Given the description of an element on the screen output the (x, y) to click on. 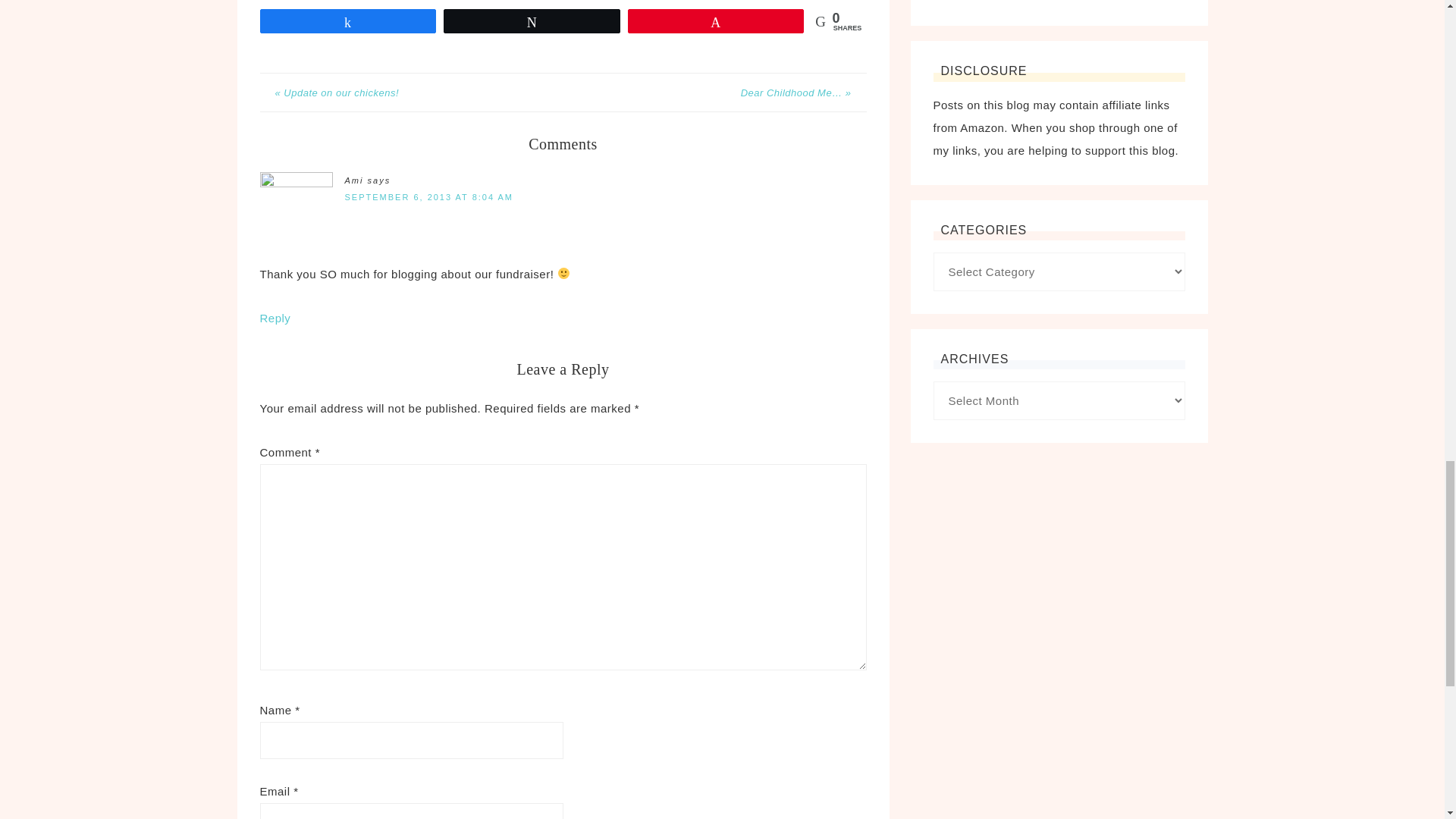
Reply (274, 318)
SEPTEMBER 6, 2013 AT 8:04 AM (428, 196)
